Given the description of an element on the screen output the (x, y) to click on. 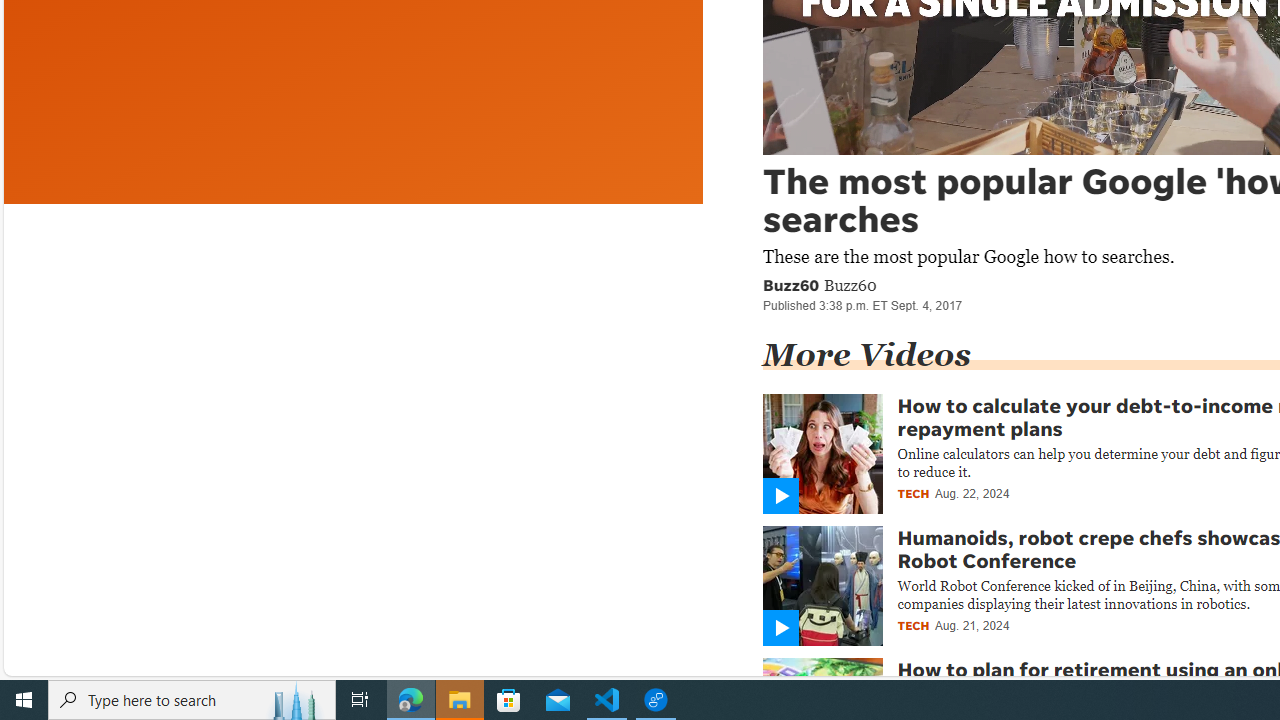
Class: gnt_m_flm_svg (779, 628)
